Given the description of an element on the screen output the (x, y) to click on. 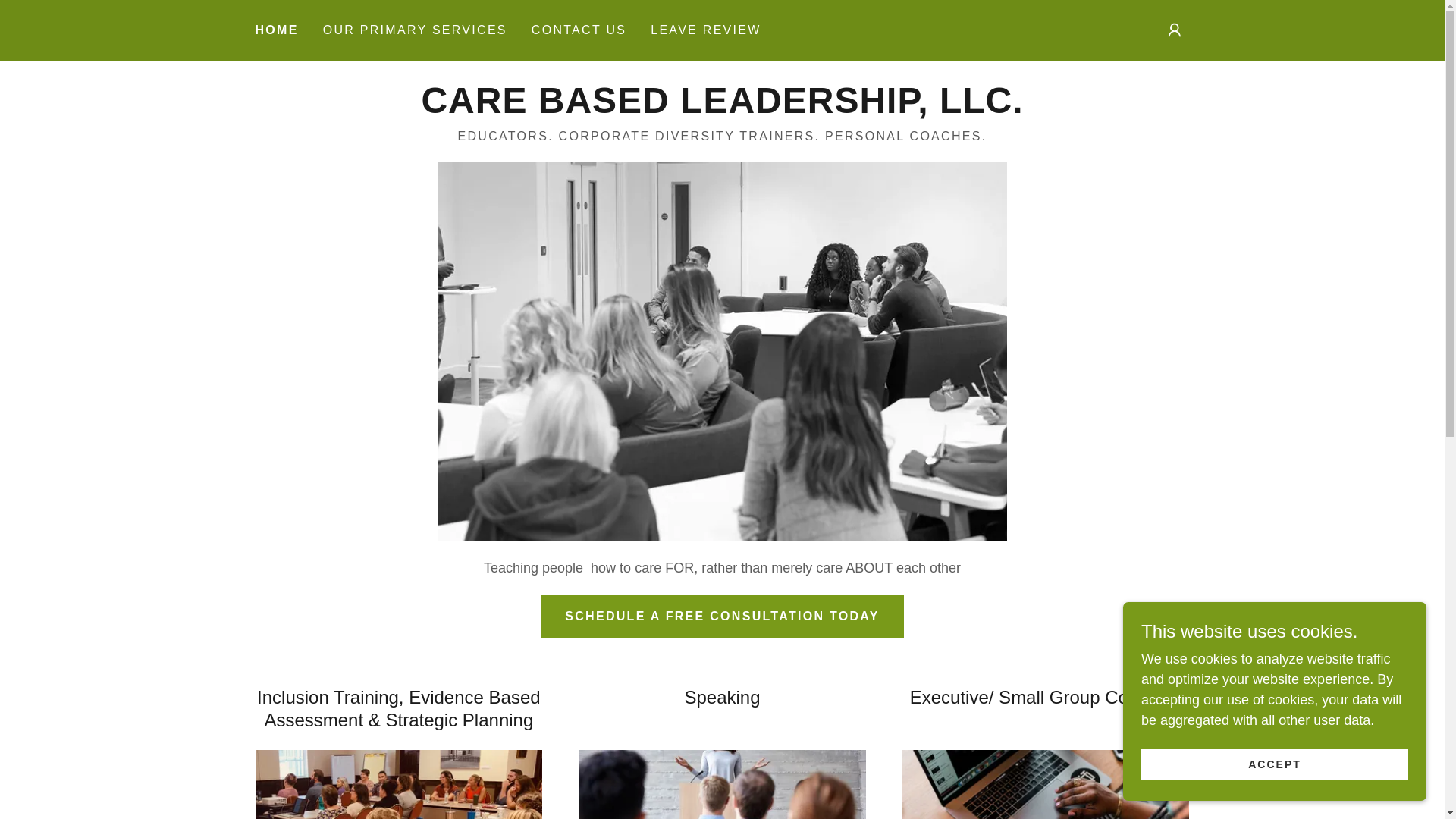
HOME (276, 30)
care based leadership, llc. (721, 108)
LEAVE REVIEW (705, 30)
SCHEDULE A FREE CONSULTATION TODAY (721, 616)
ACCEPT (1274, 764)
CONTACT US (578, 30)
OUR PRIMARY SERVICES (415, 30)
CARE BASED LEADERSHIP, LLC. (721, 108)
